Given the description of an element on the screen output the (x, y) to click on. 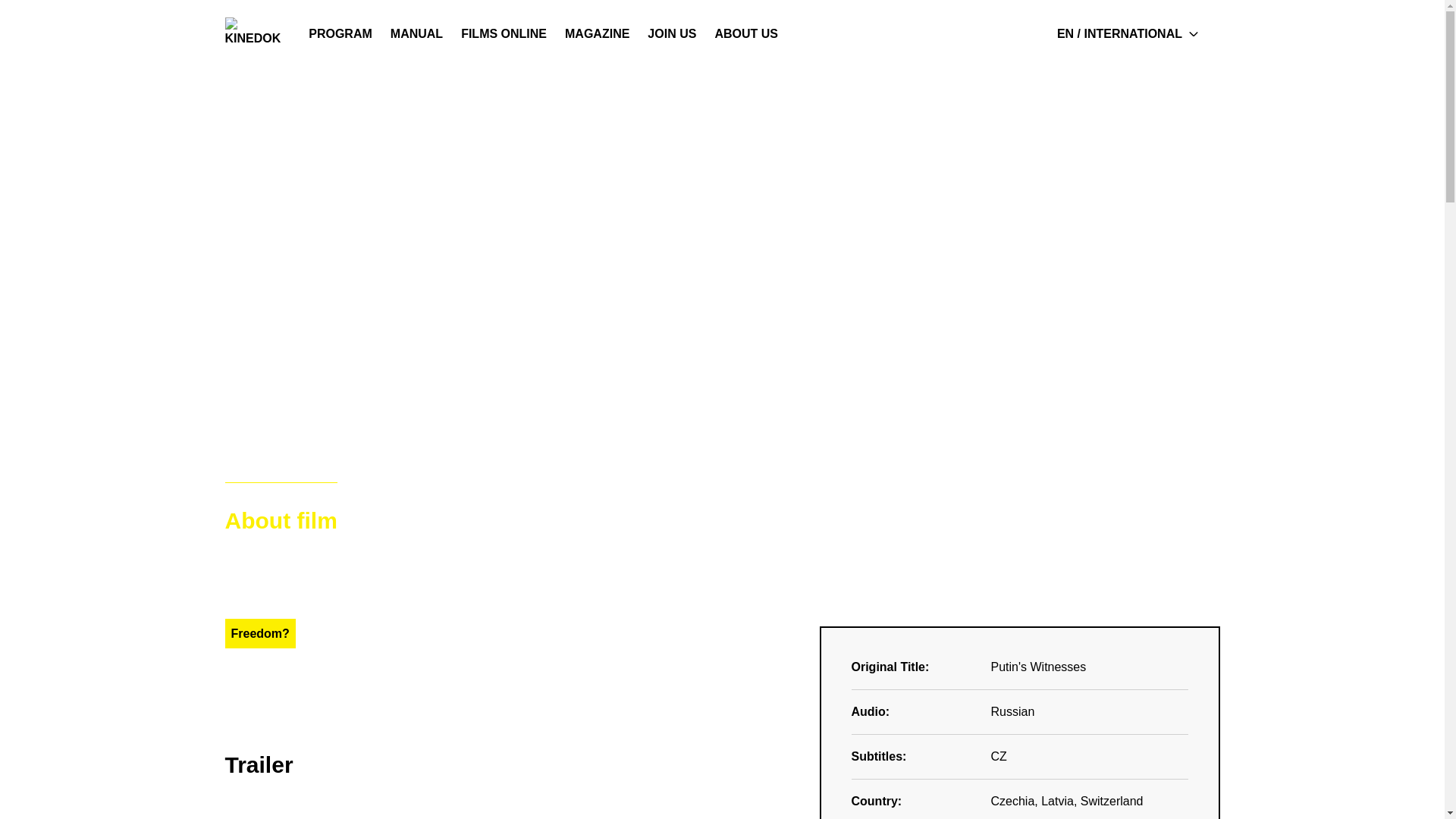
PROGRAM (340, 32)
MANUAL (416, 32)
JOIN US (671, 32)
FILMS ONLINE (503, 32)
Trailer (443, 519)
MAGAZINE (597, 32)
ABOUT US (745, 32)
